Given the description of an element on the screen output the (x, y) to click on. 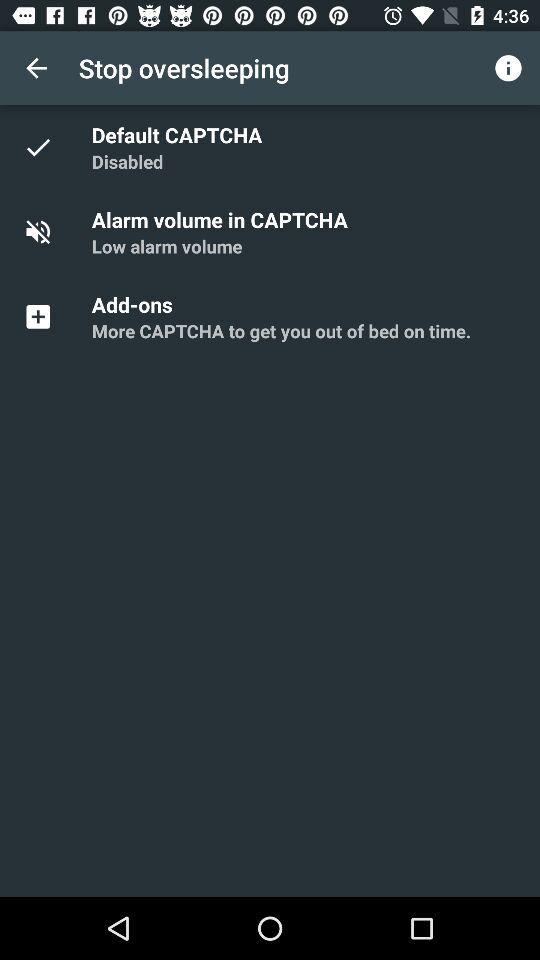
open icon below low alarm volume (135, 304)
